Given the description of an element on the screen output the (x, y) to click on. 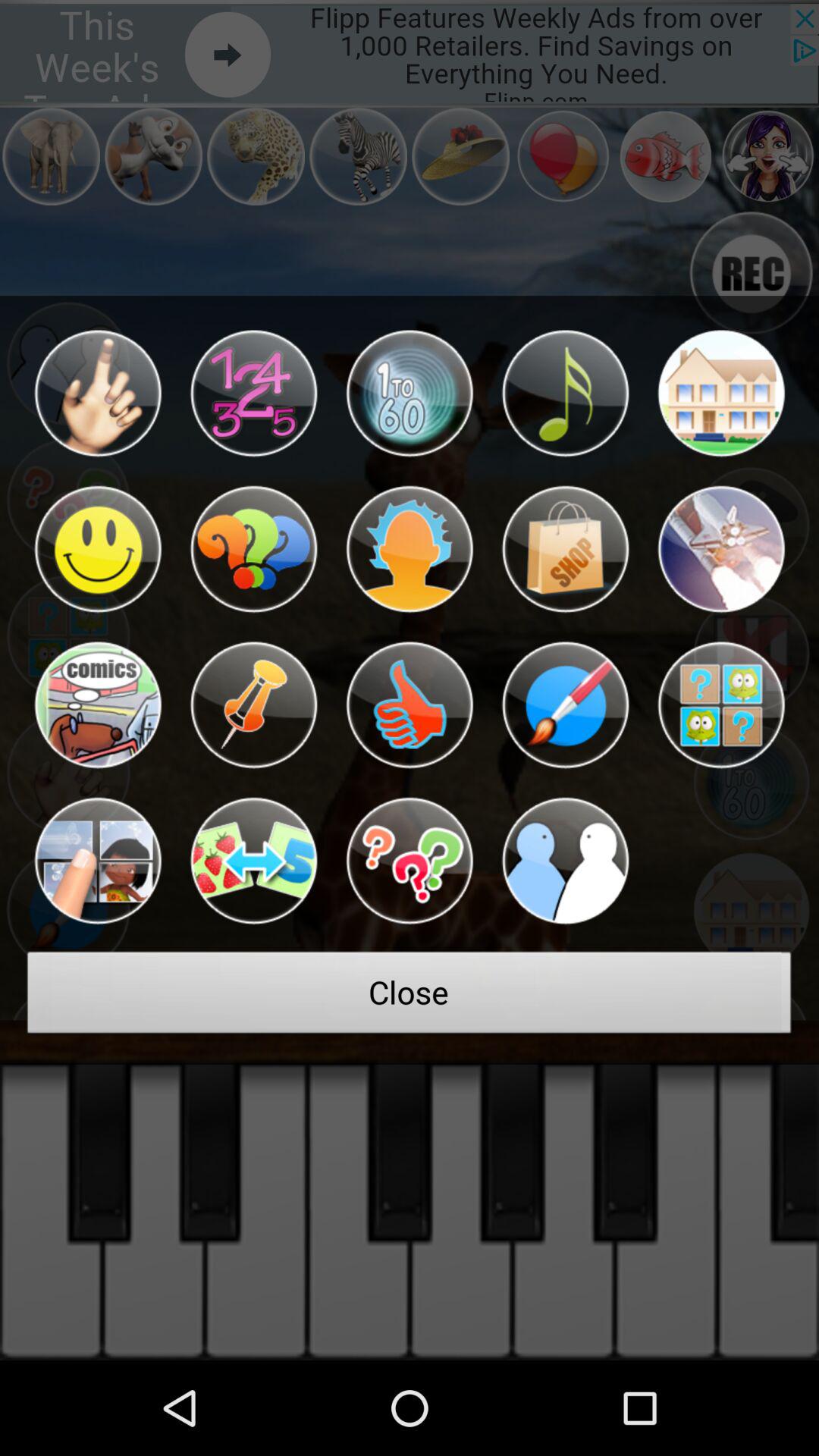
select feature (97, 705)
